Given the description of an element on the screen output the (x, y) to click on. 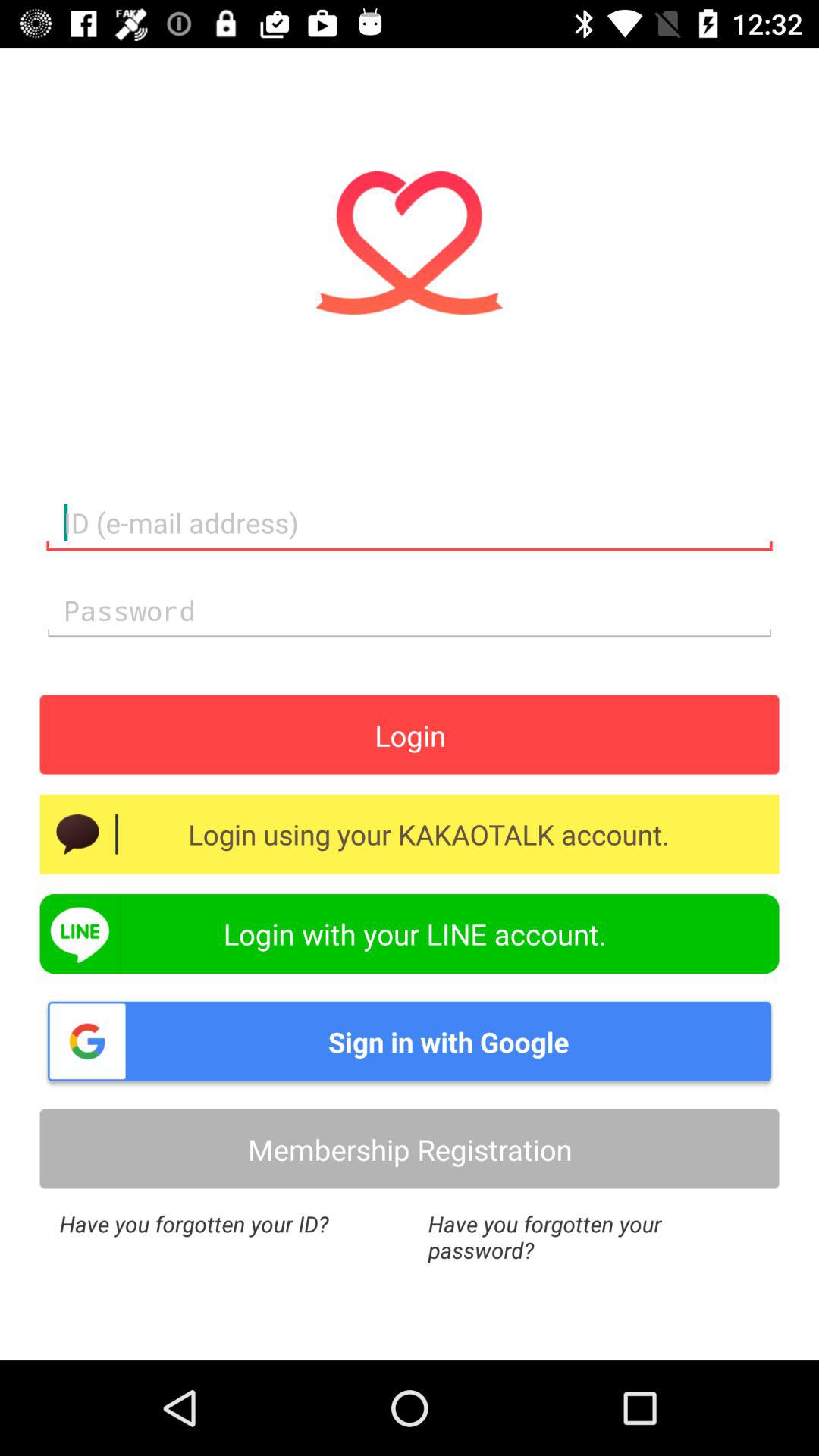
open the icon below login with your item (409, 1041)
